Given the description of an element on the screen output the (x, y) to click on. 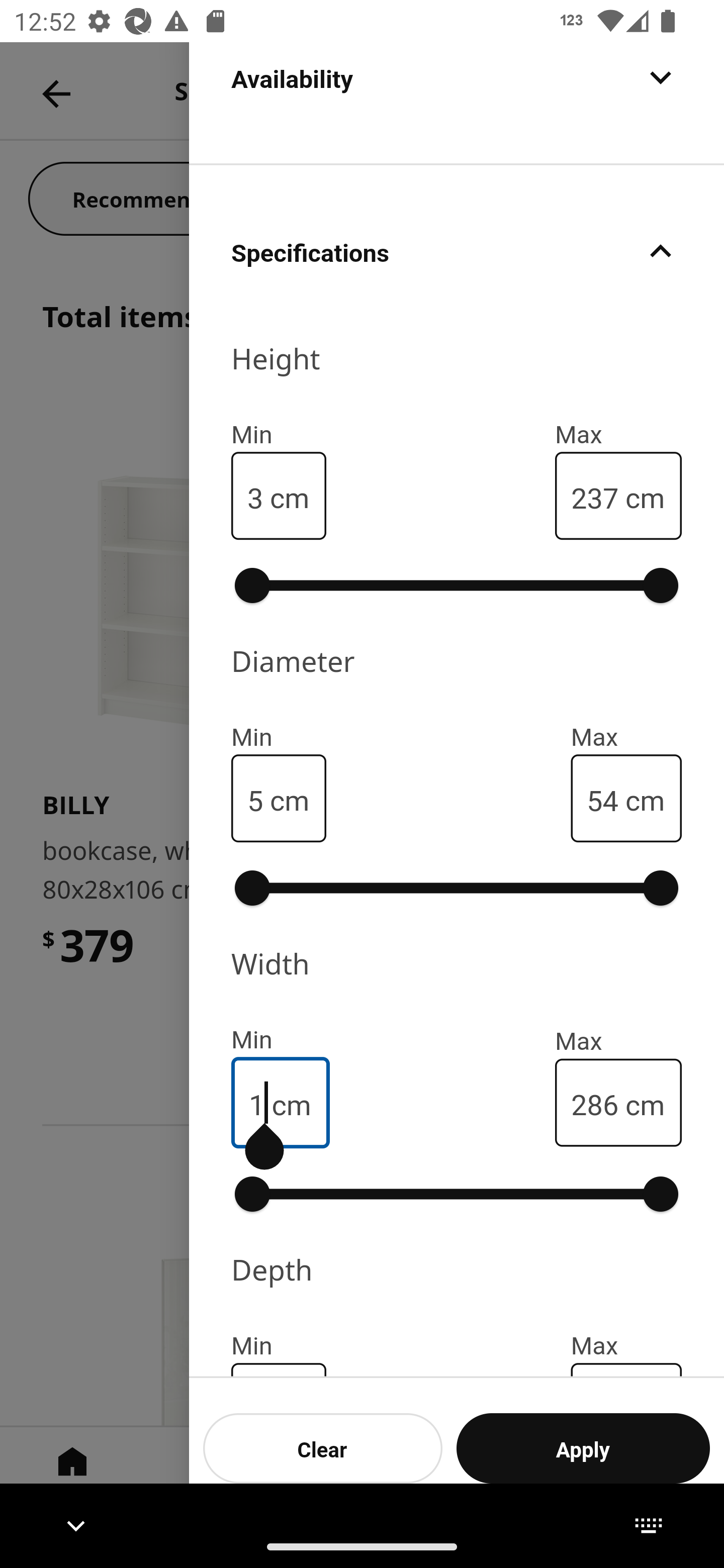
Availability (456, 101)
Specifications (456, 250)
 cm 3 (278, 495)
 cm 237 (618, 495)
3 (254, 496)
237 (594, 496)
0% 100% (456, 585)
 cm 5 (278, 798)
 cm 54 (626, 798)
5 (254, 798)
54 (602, 798)
0% 100% (456, 888)
 cm 1 (280, 1101)
 cm 286 (618, 1102)
1 (256, 1102)
286 (594, 1102)
0% 100% (456, 1194)
Clear (322, 1447)
Apply (583, 1447)
